Given the description of an element on the screen output the (x, y) to click on. 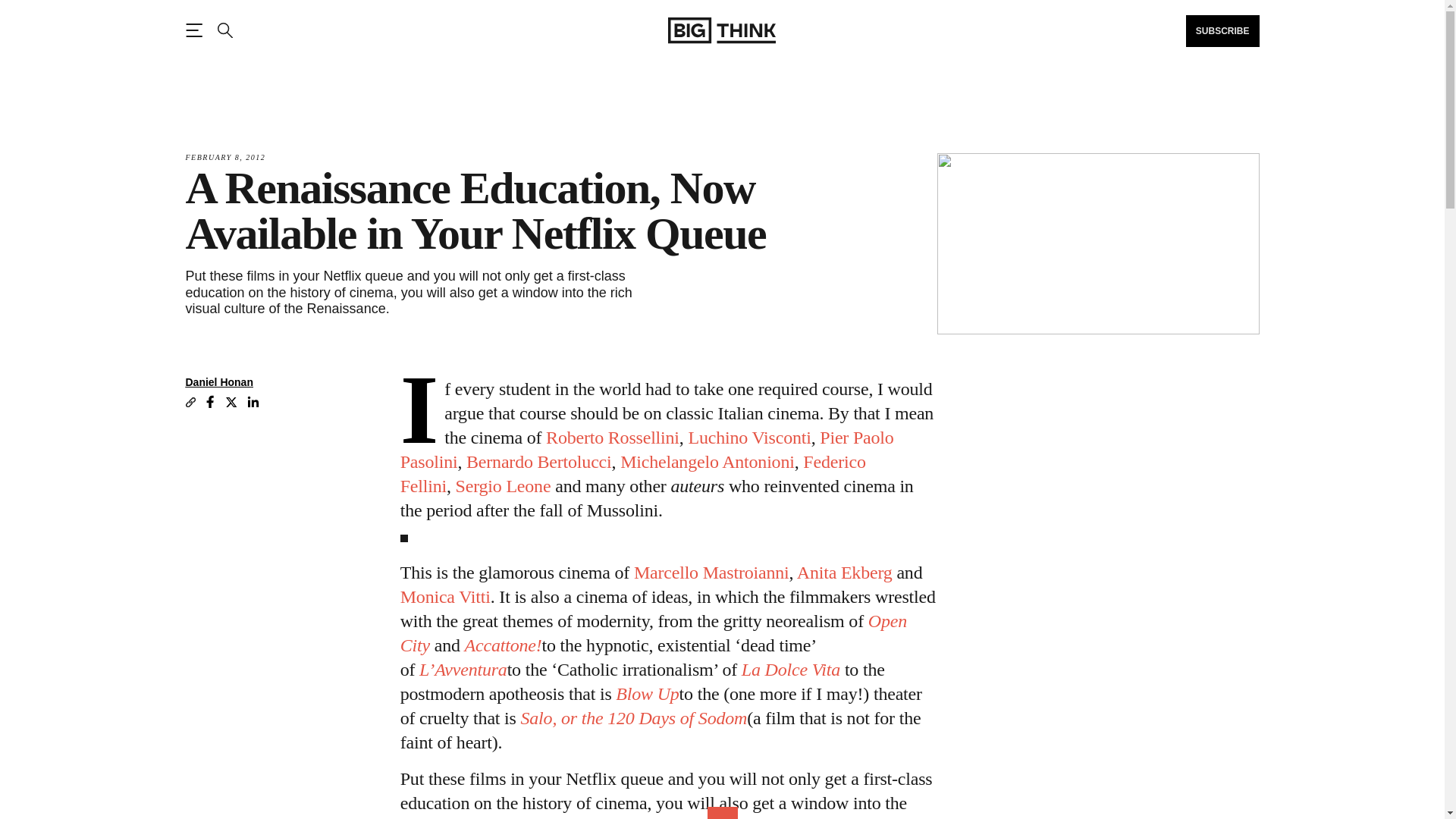
Luchino Visconti (748, 437)
Michelangelo Antonioni (707, 461)
Bernardo Bertolucci (538, 461)
Federico Fellini (633, 474)
Sergio Leone (503, 485)
Pier Paolo Pasolini (646, 449)
Roberto Rossellini (612, 437)
